Given the description of an element on the screen output the (x, y) to click on. 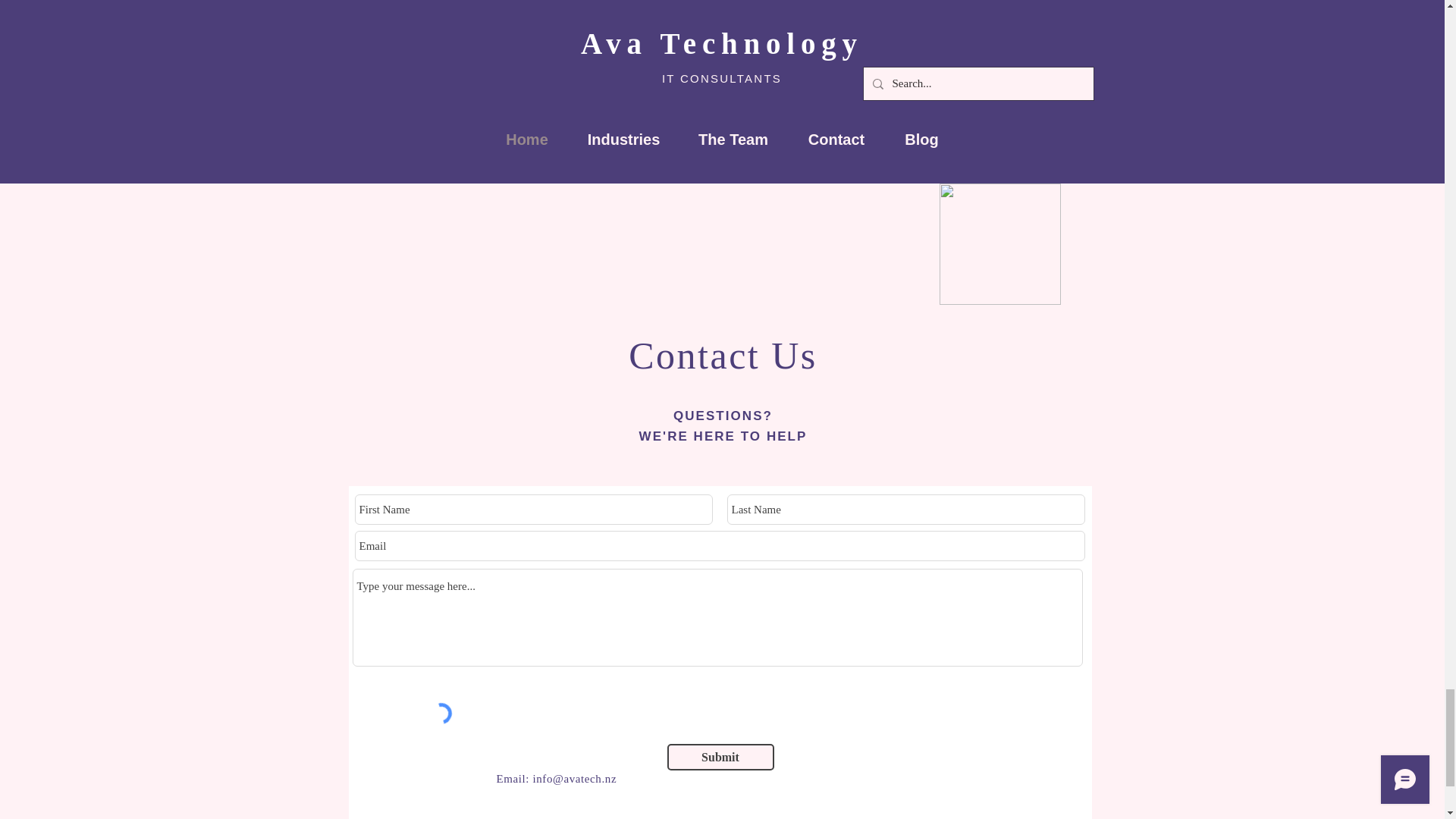
Gold-Service partner.png (999, 243)
Submit (720, 756)
